Given the description of an element on the screen output the (x, y) to click on. 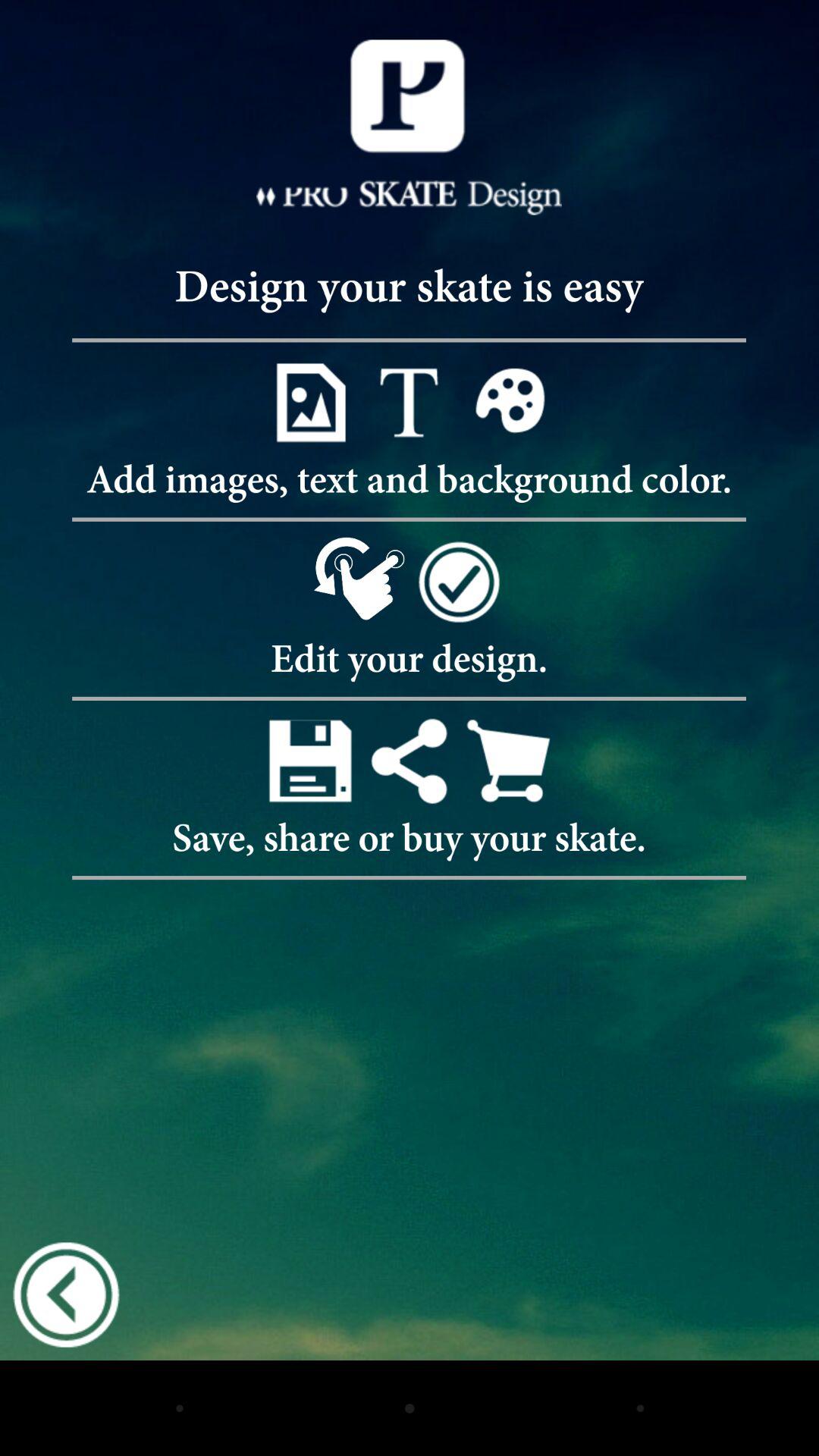
change background color (508, 402)
